Given the description of an element on the screen output the (x, y) to click on. 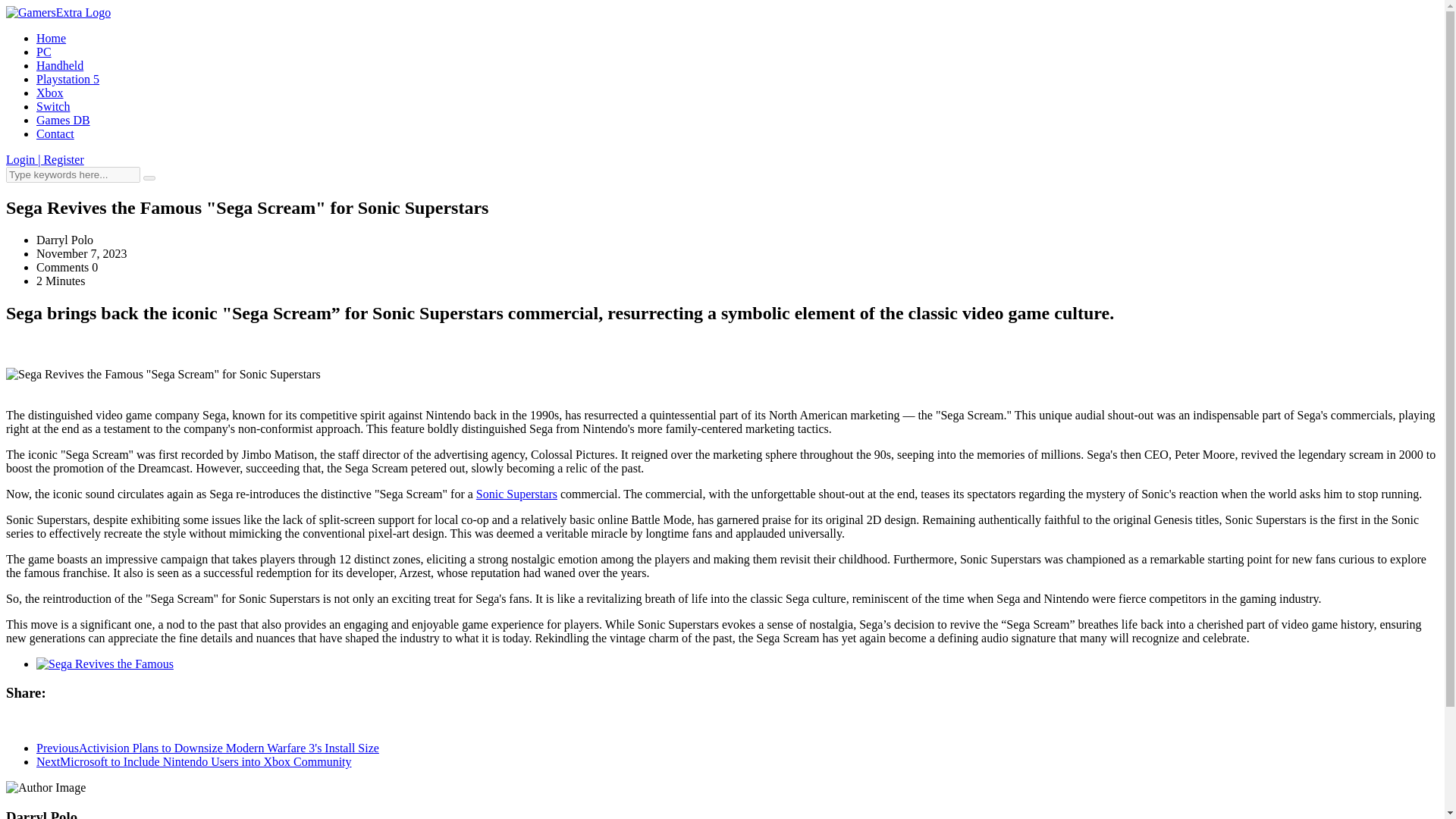
Contact (55, 133)
PC (43, 51)
Share on Facebook (13, 721)
Pin on Pinterest (43, 721)
Home (50, 38)
Xbox (50, 92)
Sonic Superstars (516, 493)
Mail (73, 721)
Share on Twitter (28, 721)
Playstation 5 (67, 78)
Share on Whatsapp (58, 721)
Switch (52, 106)
Games DB (63, 119)
Handheld (59, 65)
